Given the description of an element on the screen output the (x, y) to click on. 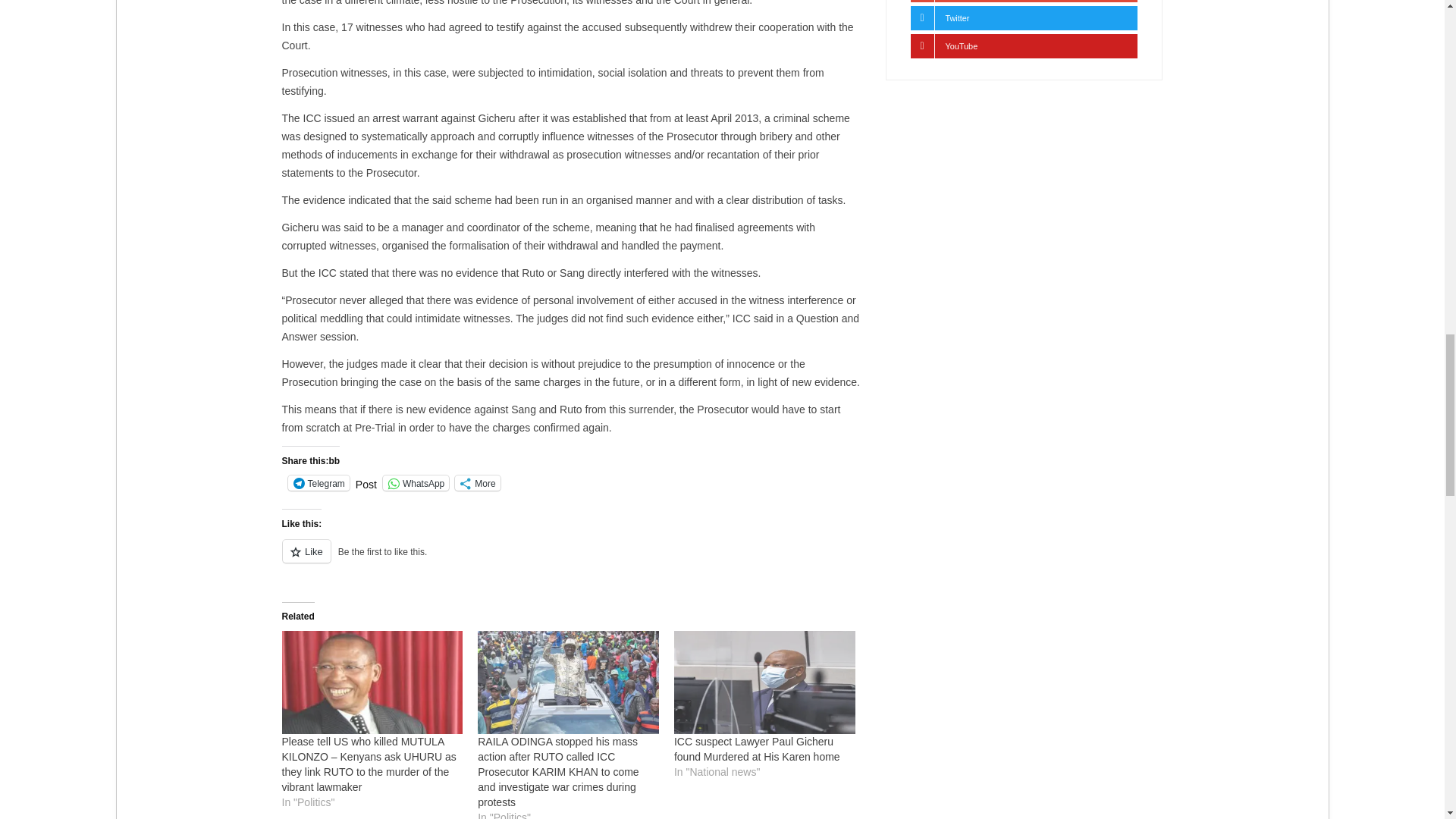
Click to share on Telegram (318, 482)
Click to share on WhatsApp (415, 482)
Like or Reblog (571, 559)
